Given the description of an element on the screen output the (x, y) to click on. 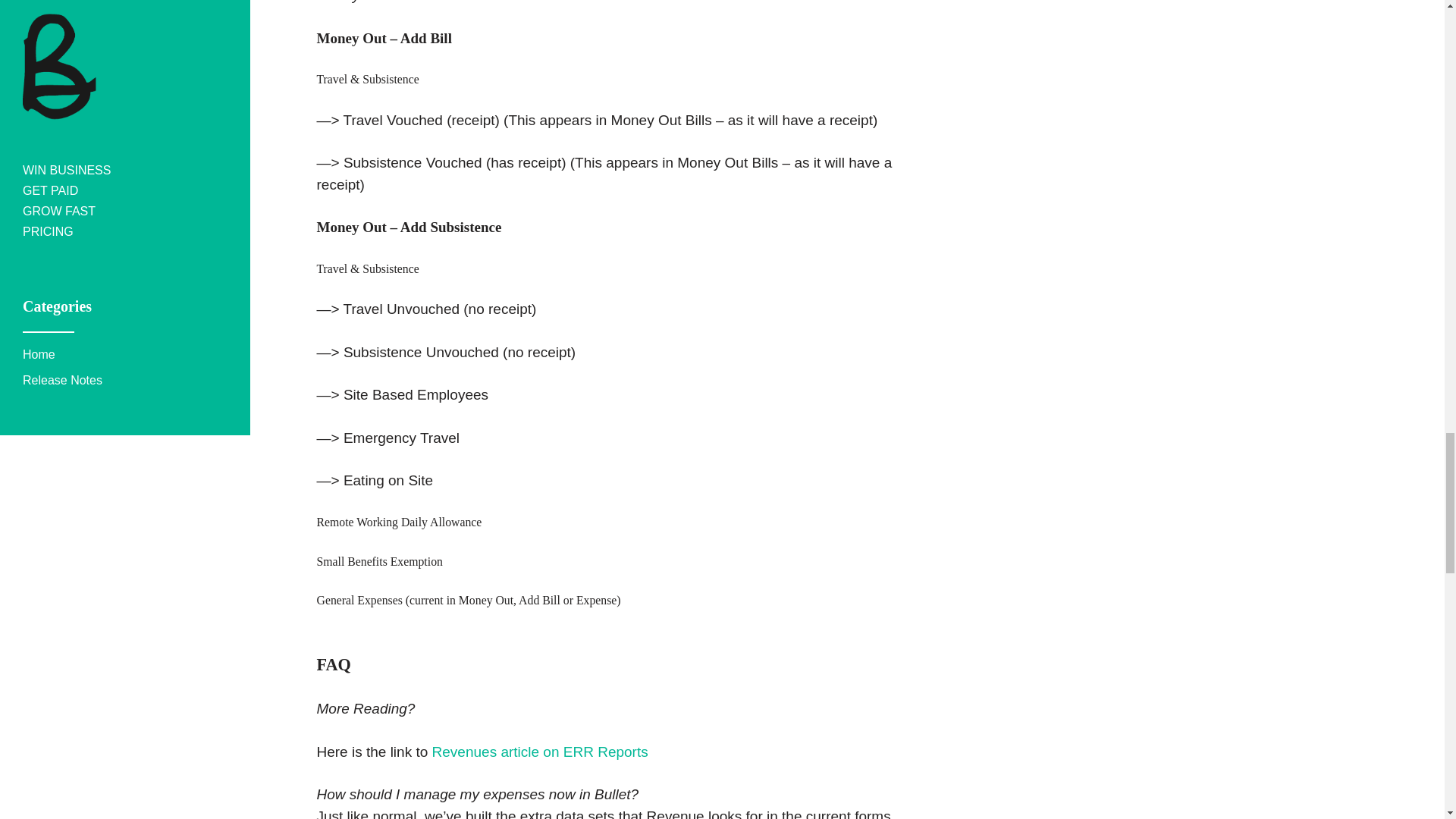
Revenues article on ERR Reports (539, 751)
